Given the description of an element on the screen output the (x, y) to click on. 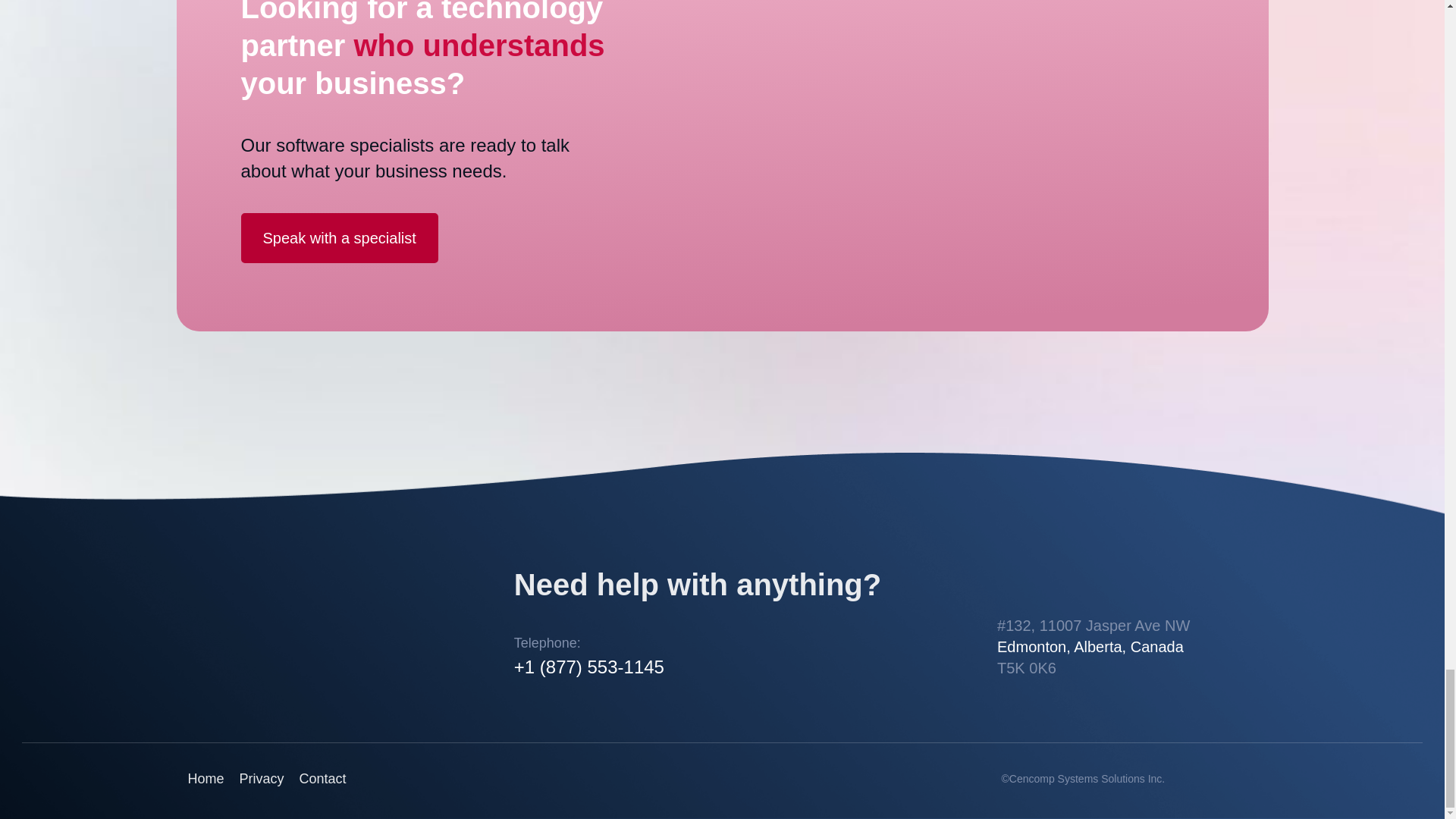
Home (205, 778)
Speak with a specialist (339, 237)
Contact (322, 778)
Privacy (261, 778)
